Given the description of an element on the screen output the (x, y) to click on. 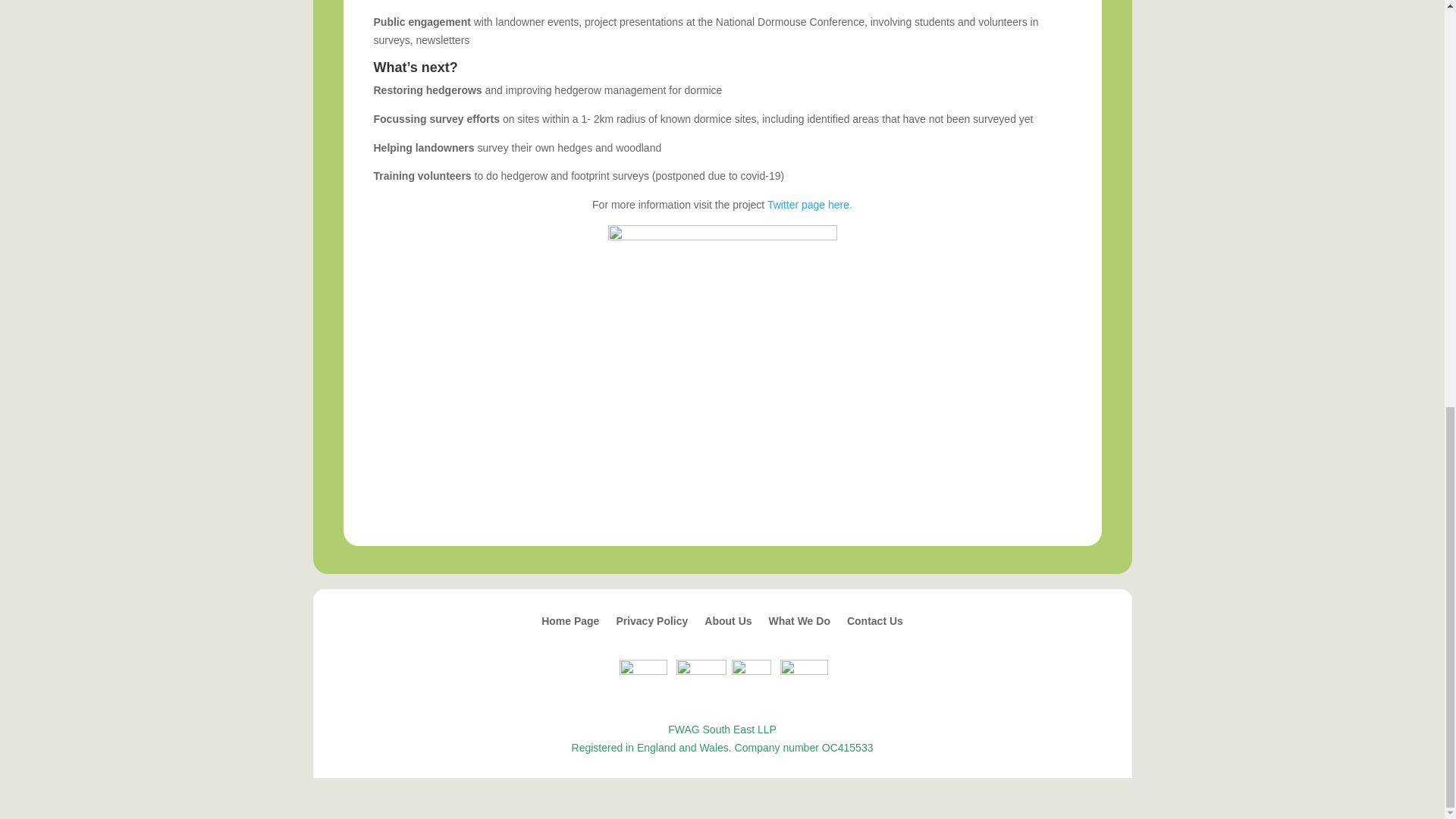
Twitter page here. (809, 204)
Facebook FWAG South East (751, 671)
Home Page (569, 623)
Contact Us (874, 623)
LinkedIn FWAG South East (701, 671)
Instagram FWAG South East (804, 671)
About Us (727, 623)
Twitter FWAG South East (643, 671)
What We Do (798, 623)
Privacy Policy (651, 623)
